Given the description of an element on the screen output the (x, y) to click on. 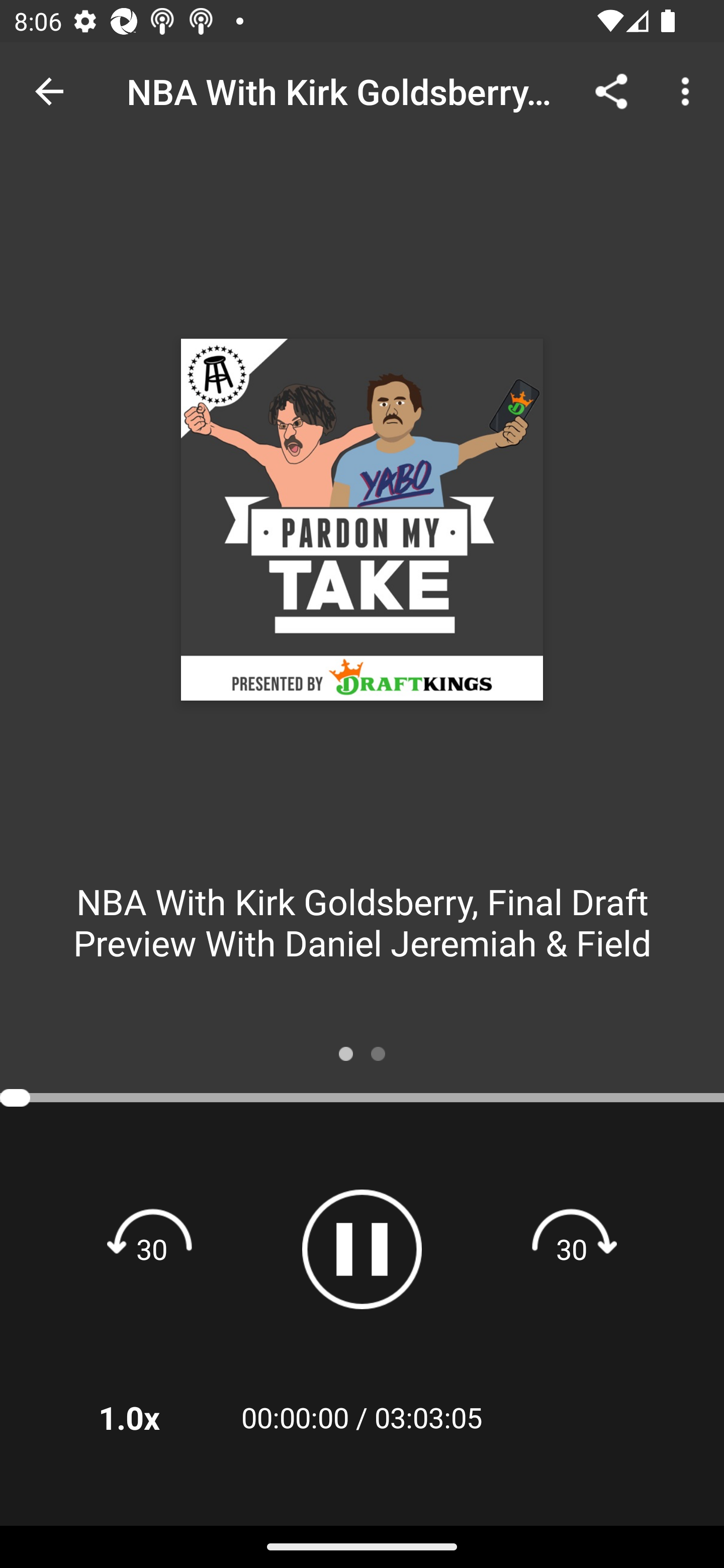
Navigate up (49, 91)
Share... (611, 90)
More options (688, 90)
Pause (361, 1249)
Rewind (151, 1248)
Fast forward (571, 1248)
1.0x Playback Speeds (154, 1417)
03:03:05 (428, 1417)
